Given the description of an element on the screen output the (x, y) to click on. 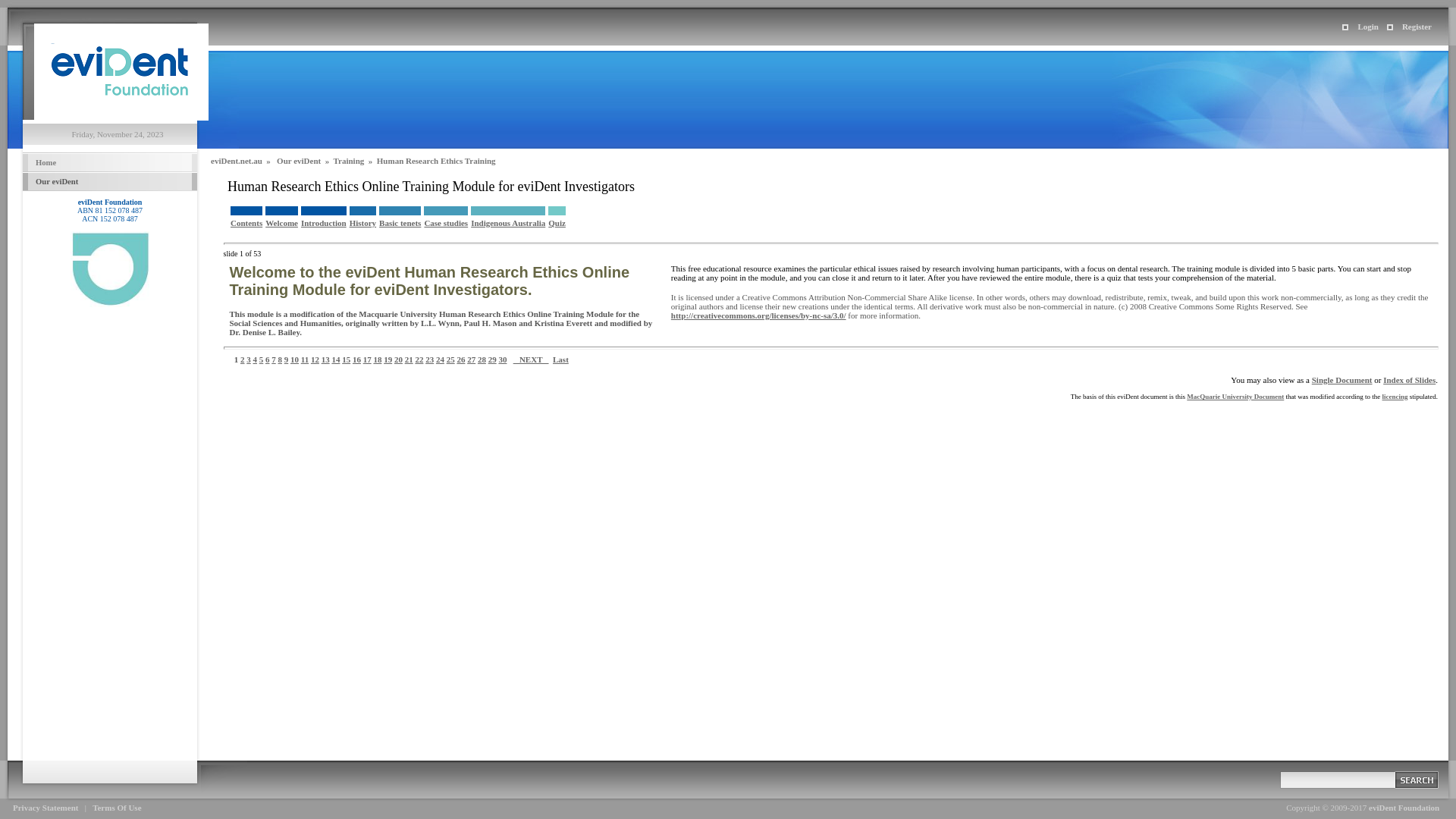
19 Element type: text (387, 359)
Privacy Statement Element type: text (45, 807)
http://creativecommons.org/licenses/by-nc-sa/3.0/ Element type: text (758, 315)
28 Element type: text (481, 359)
Terms Of Use Element type: text (116, 807)
Register Element type: text (1408, 26)
      Our eviDent  Element type: text (109, 181)
   NEXT    Element type: text (531, 359)
13 Element type: text (325, 359)
Quiz Element type: text (556, 222)
Our eviDent Element type: text (298, 160)
27 Element type: text (471, 359)
4 Element type: text (255, 359)
18 Element type: text (377, 359)
History Element type: text (362, 222)
20 Element type: text (398, 359)
Introduction Element type: text (323, 222)
24 Element type: text (440, 359)
16 Element type: text (356, 359)
2 Element type: text (242, 359)
5 Element type: text (261, 359)
17 Element type: text (367, 359)
Index of Slides Element type: text (1409, 379)
9 Element type: text (286, 359)
29 Element type: text (492, 359)
14 Element type: text (335, 359)
Welcome Element type: text (281, 222)
15 Element type: text (346, 359)
eviDent Foundation Element type: hover (121, 116)
Login Element type: text (1360, 26)
6 Element type: text (267, 359)
26 Element type: text (460, 359)
Last Element type: text (560, 359)
Training Element type: text (348, 160)
12 Element type: text (314, 359)
Contents Element type: text (246, 222)
Human Research Ethics Training Element type: text (435, 160)
7 Element type: text (273, 359)
3 Element type: text (248, 359)
Basic tenets Element type: text (399, 222)
Indigenous Australia Element type: text (507, 222)
25 Element type: text (450, 359)
22 Element type: text (418, 359)
      Home  Element type: text (109, 162)
Case studies Element type: text (445, 222)
30 Element type: text (502, 359)
  Element type: text (1417, 780)
MacQuarie University Document Element type: text (1234, 395)
8 Element type: text (279, 359)
licencing Element type: text (1394, 395)
Single Document Element type: text (1341, 379)
11 Element type: text (304, 359)
21 Element type: text (408, 359)
10 Element type: text (294, 359)
23 Element type: text (429, 359)
